Given the description of an element on the screen output the (x, y) to click on. 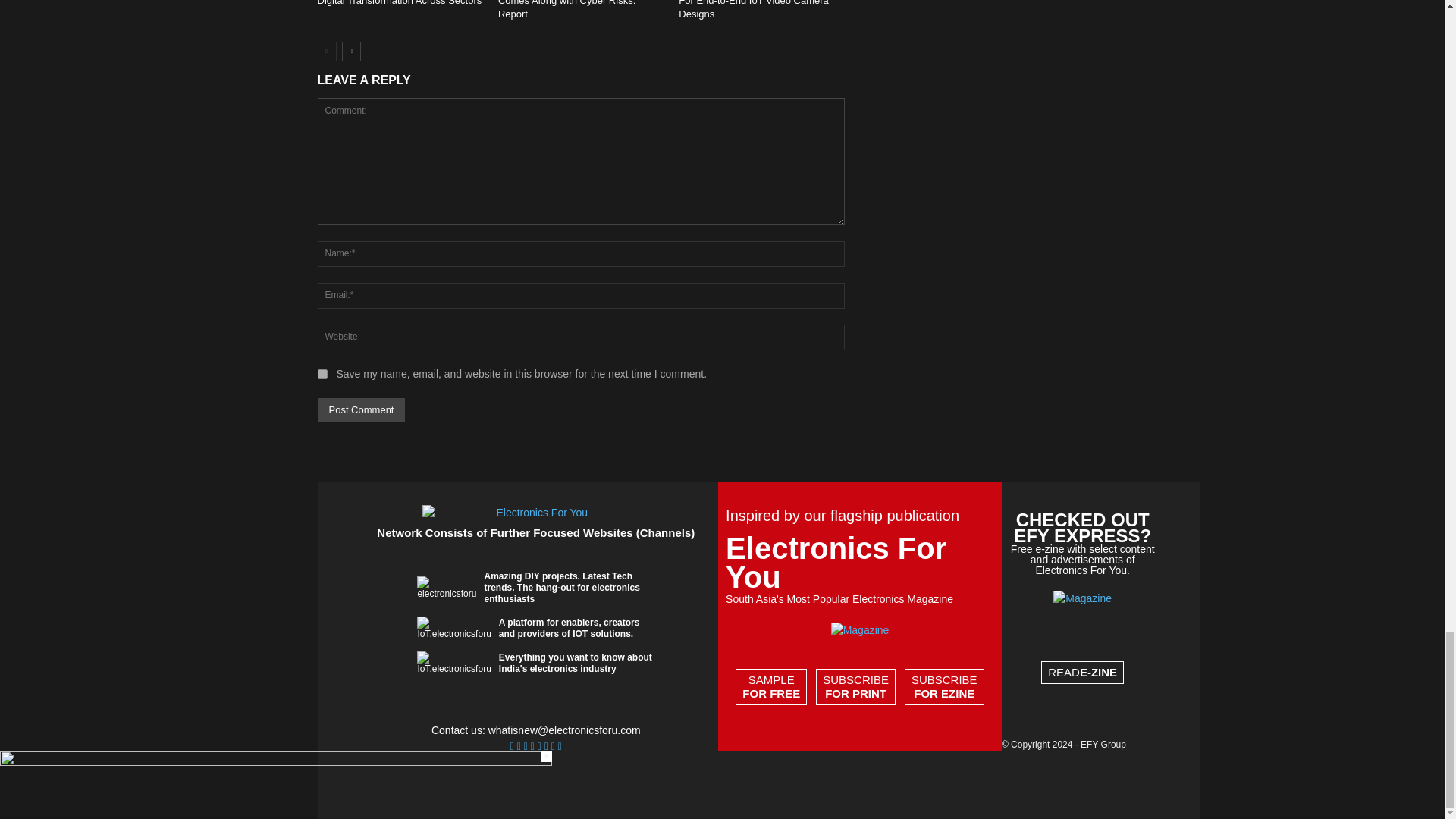
Post Comment (360, 409)
yes (321, 374)
